Given the description of an element on the screen output the (x, y) to click on. 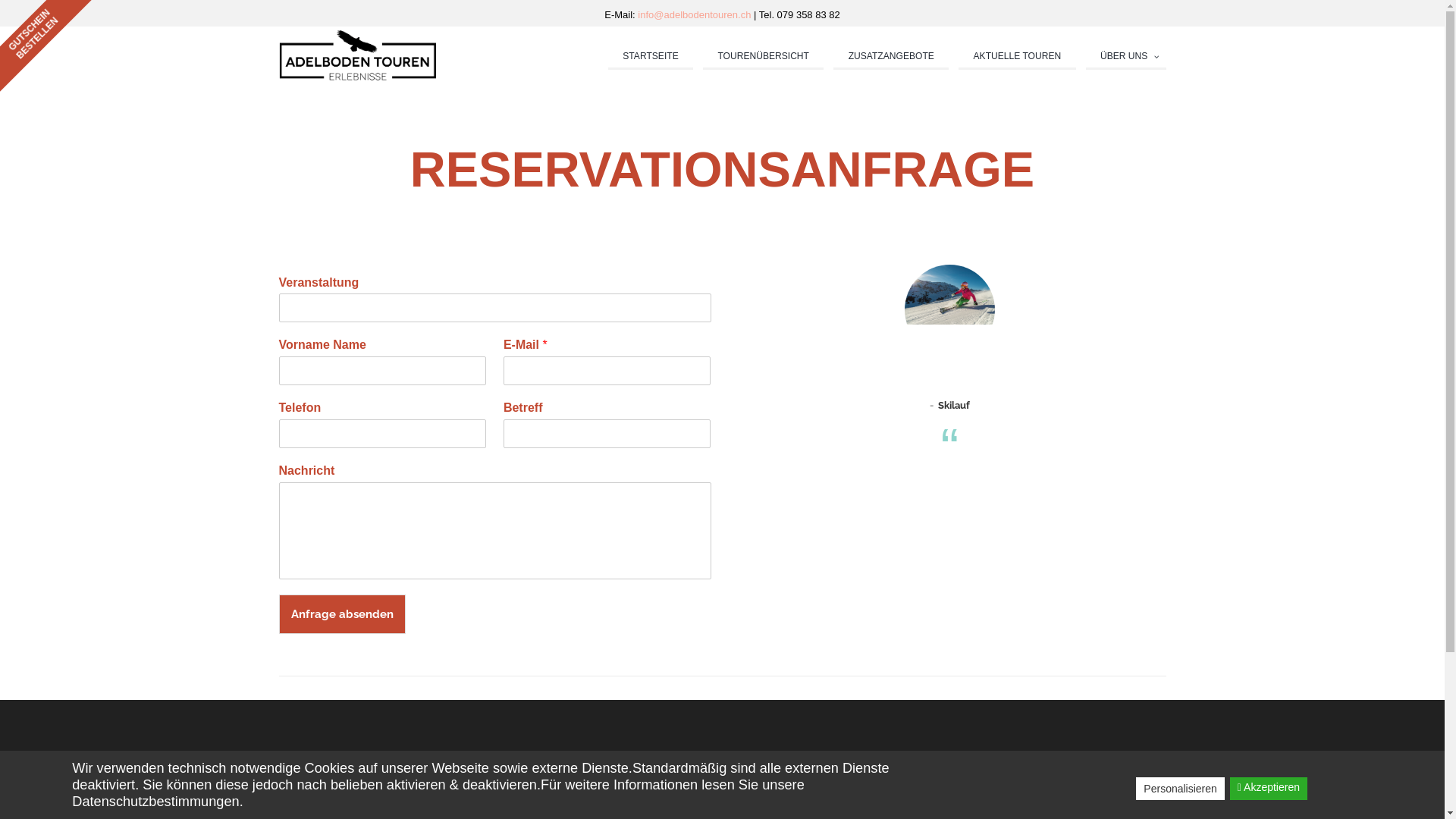
ZUSATZANGEBOTE Element type: text (890, 57)
AKTUELLE TOUREN Element type: text (1016, 57)
Anfrage absenden Element type: text (342, 613)
Personalisieren Element type: text (1179, 788)
info@adelbodentouren.ch Element type: text (695, 14)
Fondueiglu Element type: text (950, 405)
STARTSEITE Element type: text (650, 57)
